Given the description of an element on the screen output the (x, y) to click on. 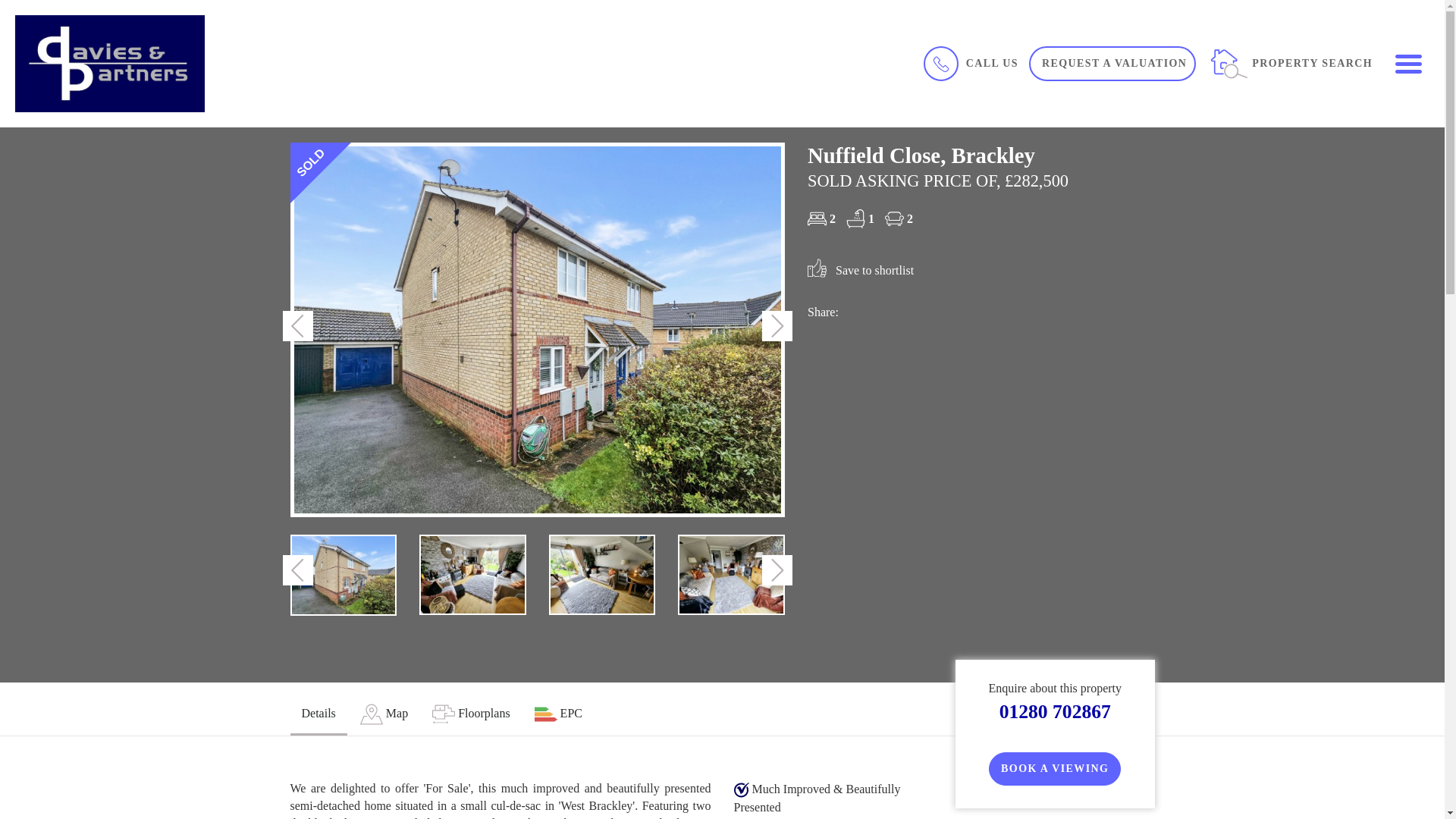
REQUEST A VALUATION (1112, 63)
Previous (297, 570)
Next (776, 326)
Previous (297, 326)
CALL US (969, 62)
EPC (558, 714)
Next (776, 570)
Details (317, 714)
Floorplans (470, 714)
BOOK A VIEWING (1054, 768)
MENU (1406, 62)
Save to shortlist (861, 269)
Map (384, 714)
PROPERTY SEARCH (1291, 62)
01280 702867 (1054, 711)
